Given the description of an element on the screen output the (x, y) to click on. 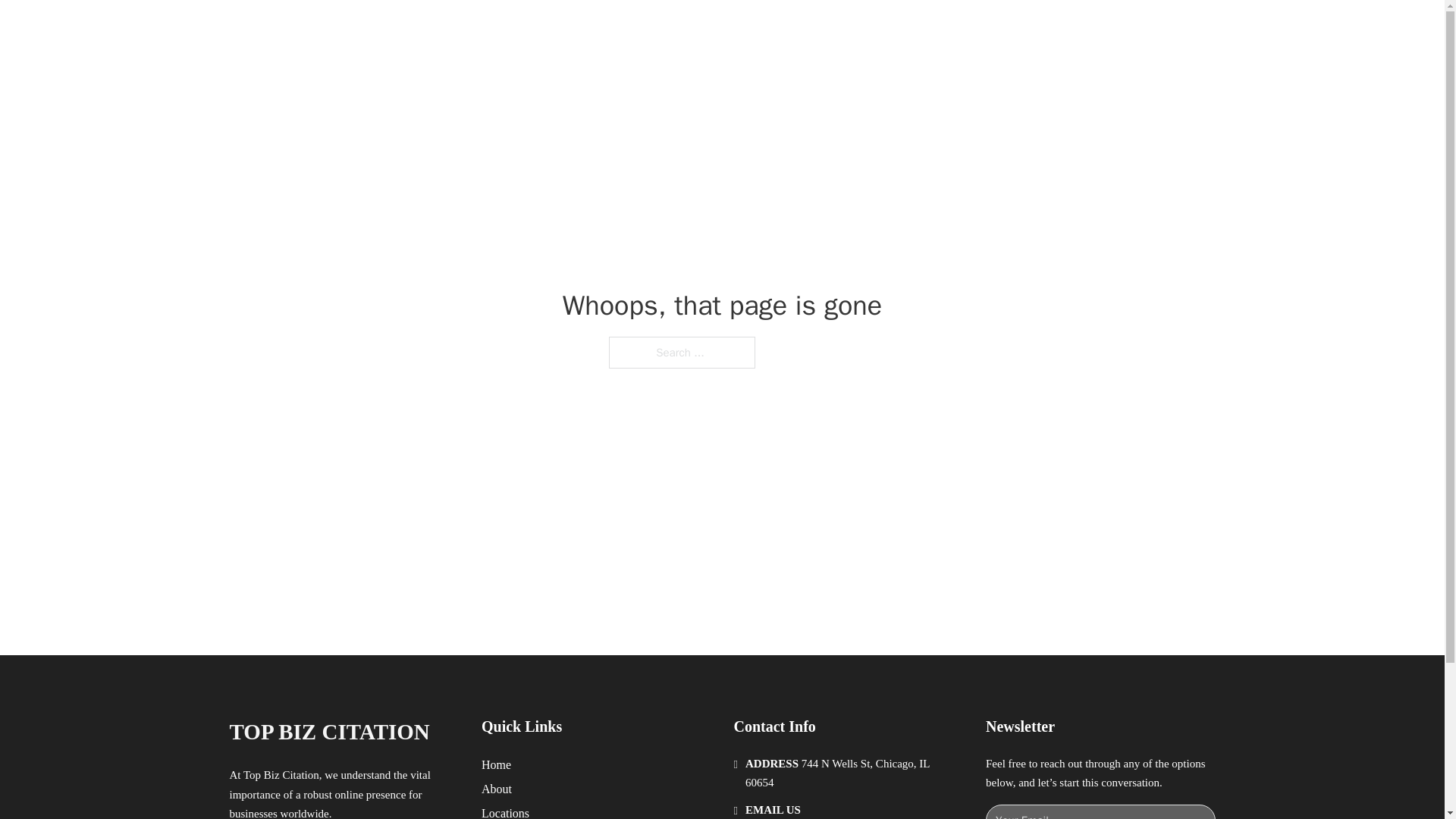
Home (496, 764)
Locations (505, 811)
HOME (919, 29)
TOP BIZ CITATION (399, 28)
TOP BIZ CITATION (328, 732)
LOCATIONS (990, 29)
About (496, 788)
